Given the description of an element on the screen output the (x, y) to click on. 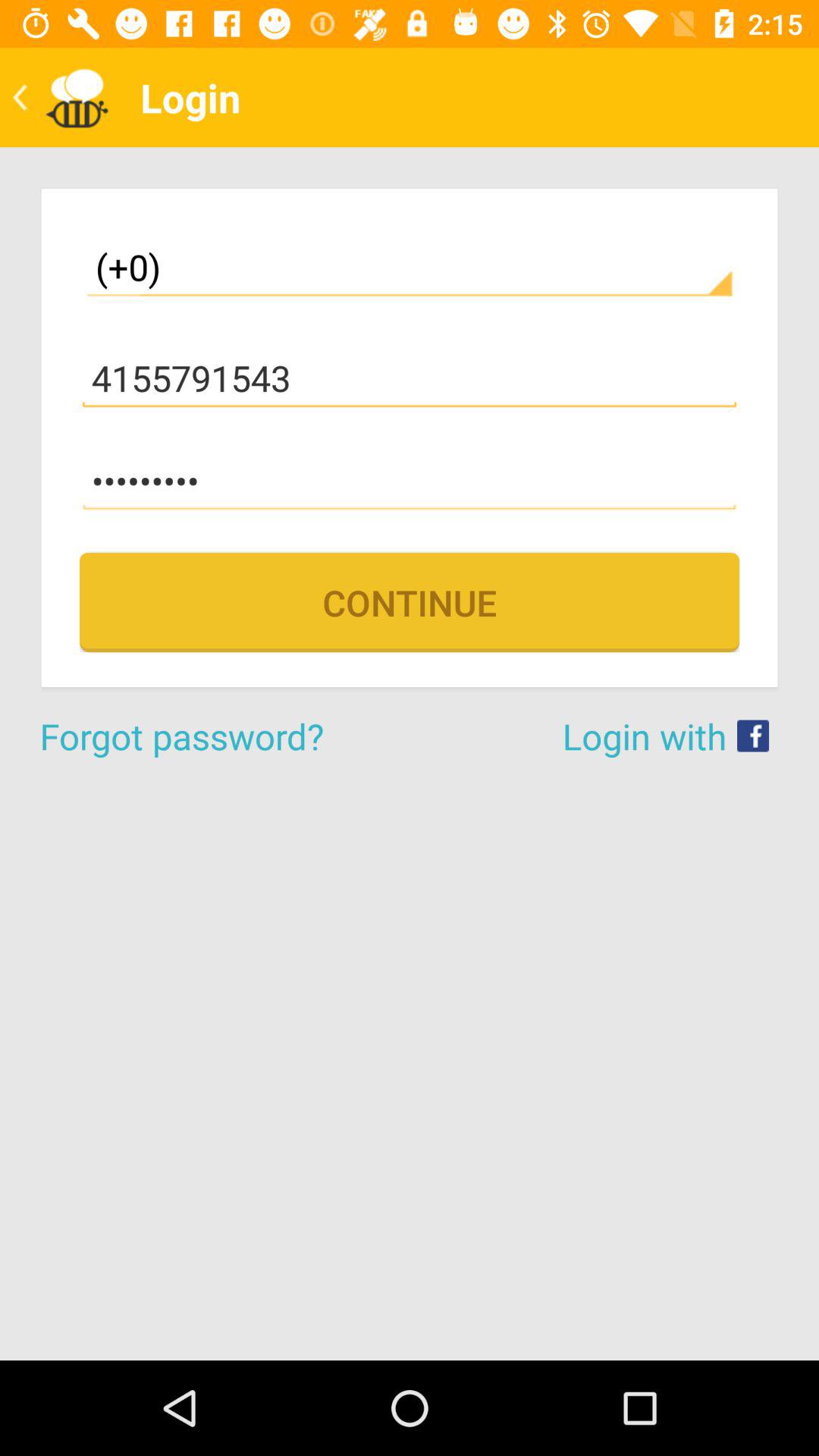
open item below the crowd3116 item (409, 602)
